Given the description of an element on the screen output the (x, y) to click on. 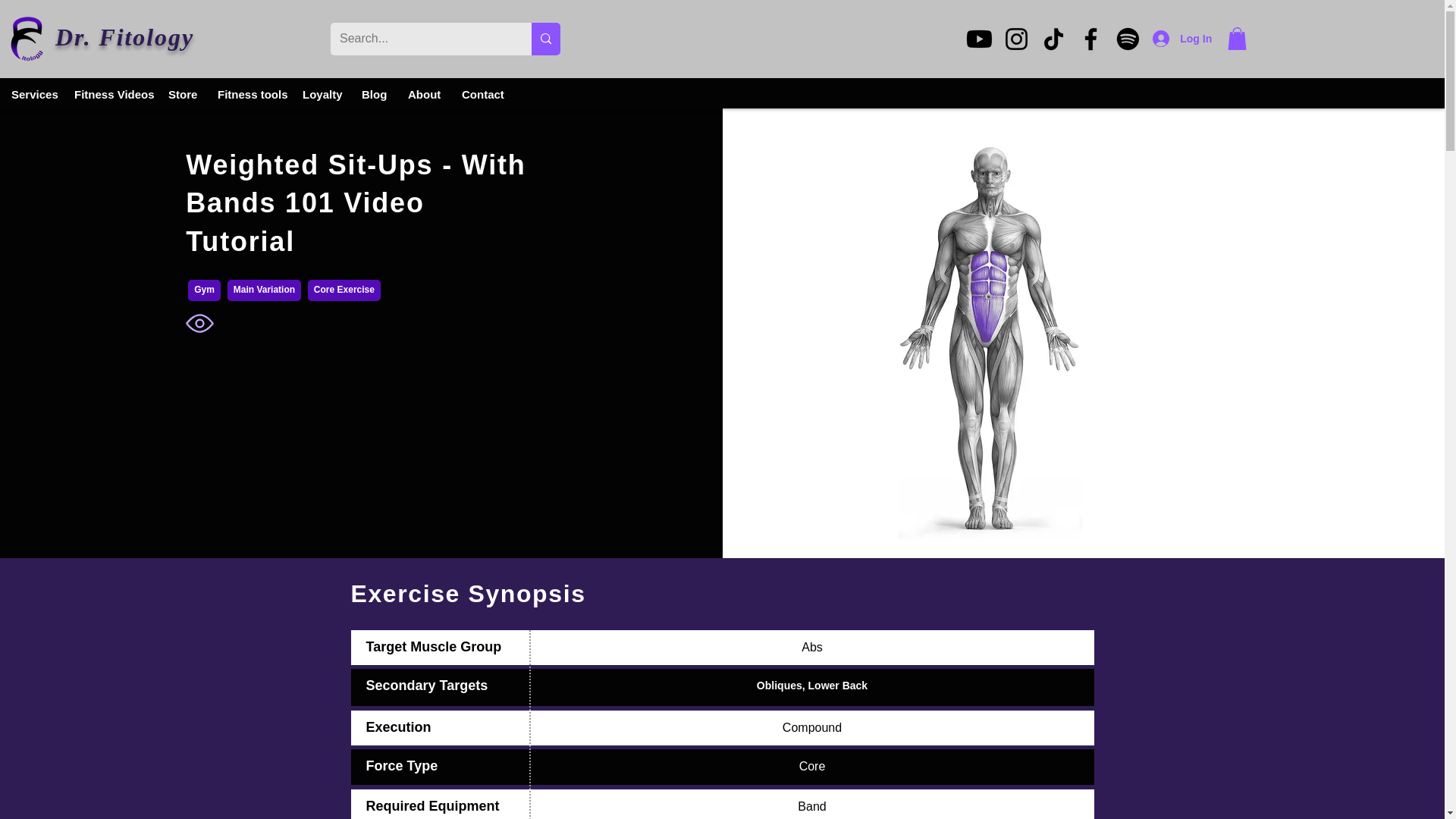
Lower Back (837, 685)
Store (181, 94)
About (422, 94)
Dr. Fitology (124, 36)
Log In (1182, 38)
Blog (373, 94)
Fitness Videos (109, 94)
Loyalty (320, 94)
Contact (481, 94)
Dr. Fitology (27, 39)
